Given the description of an element on the screen output the (x, y) to click on. 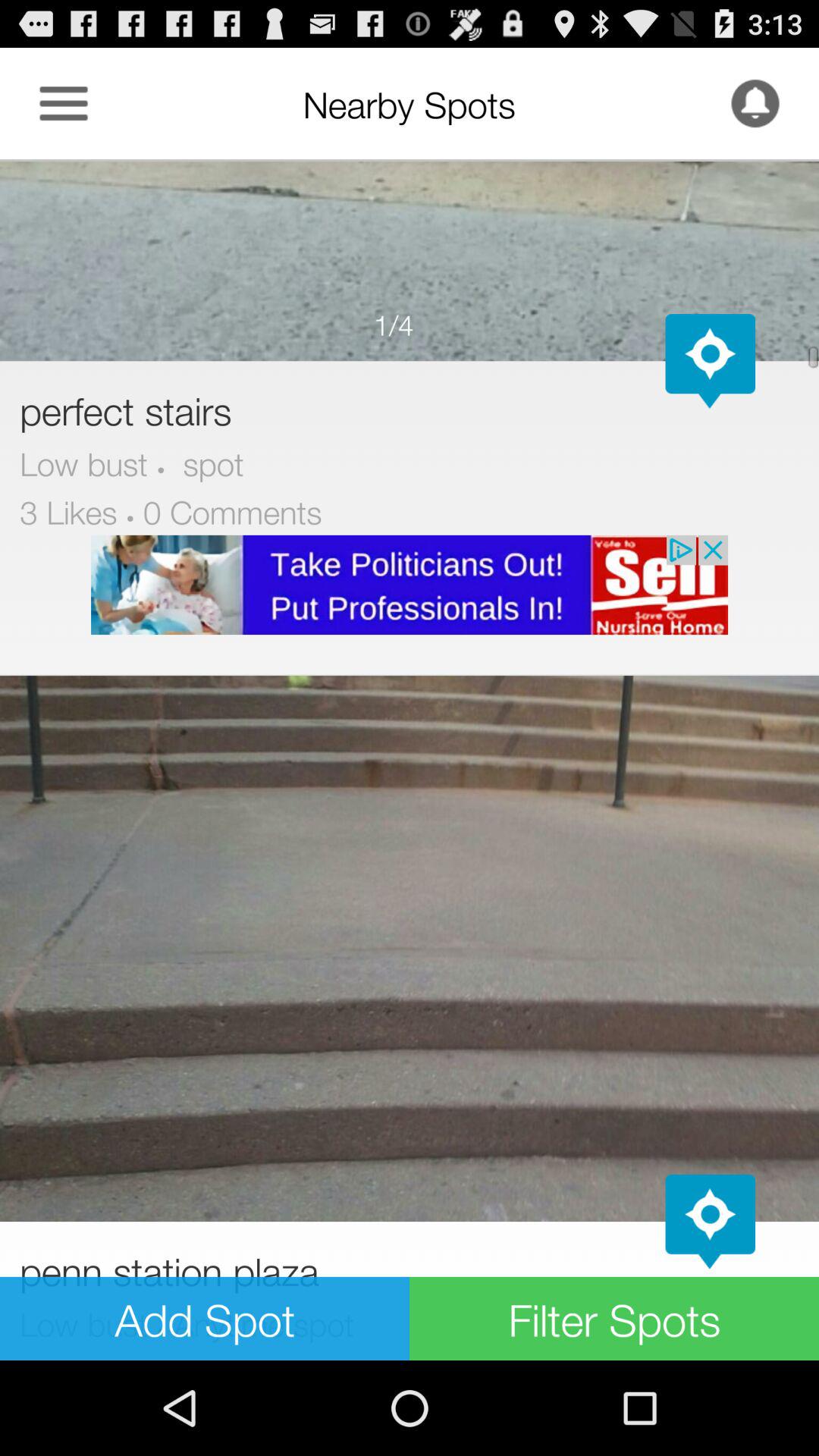
open menu (63, 103)
